Given the description of an element on the screen output the (x, y) to click on. 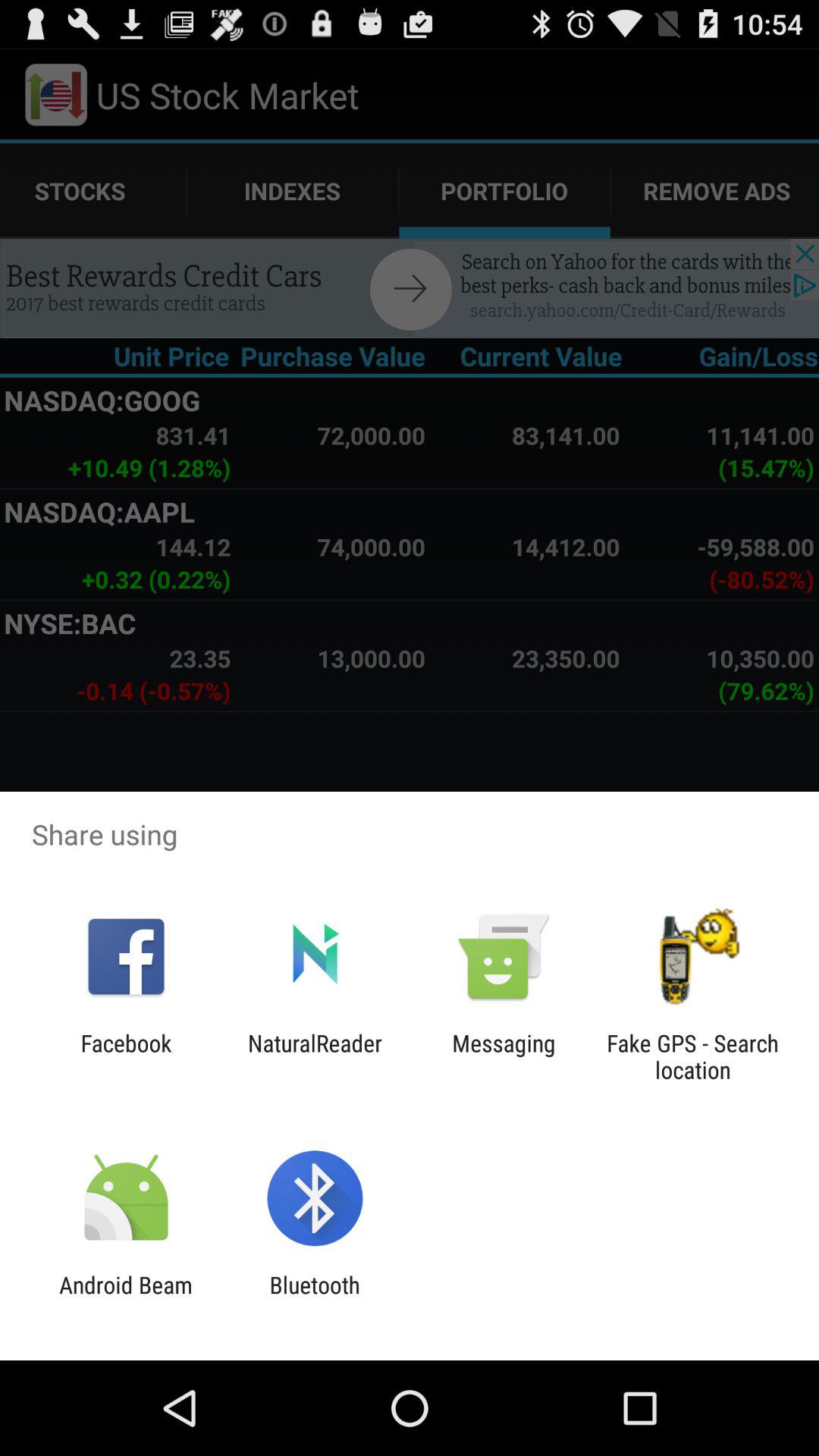
click android beam item (125, 1298)
